Given the description of an element on the screen output the (x, y) to click on. 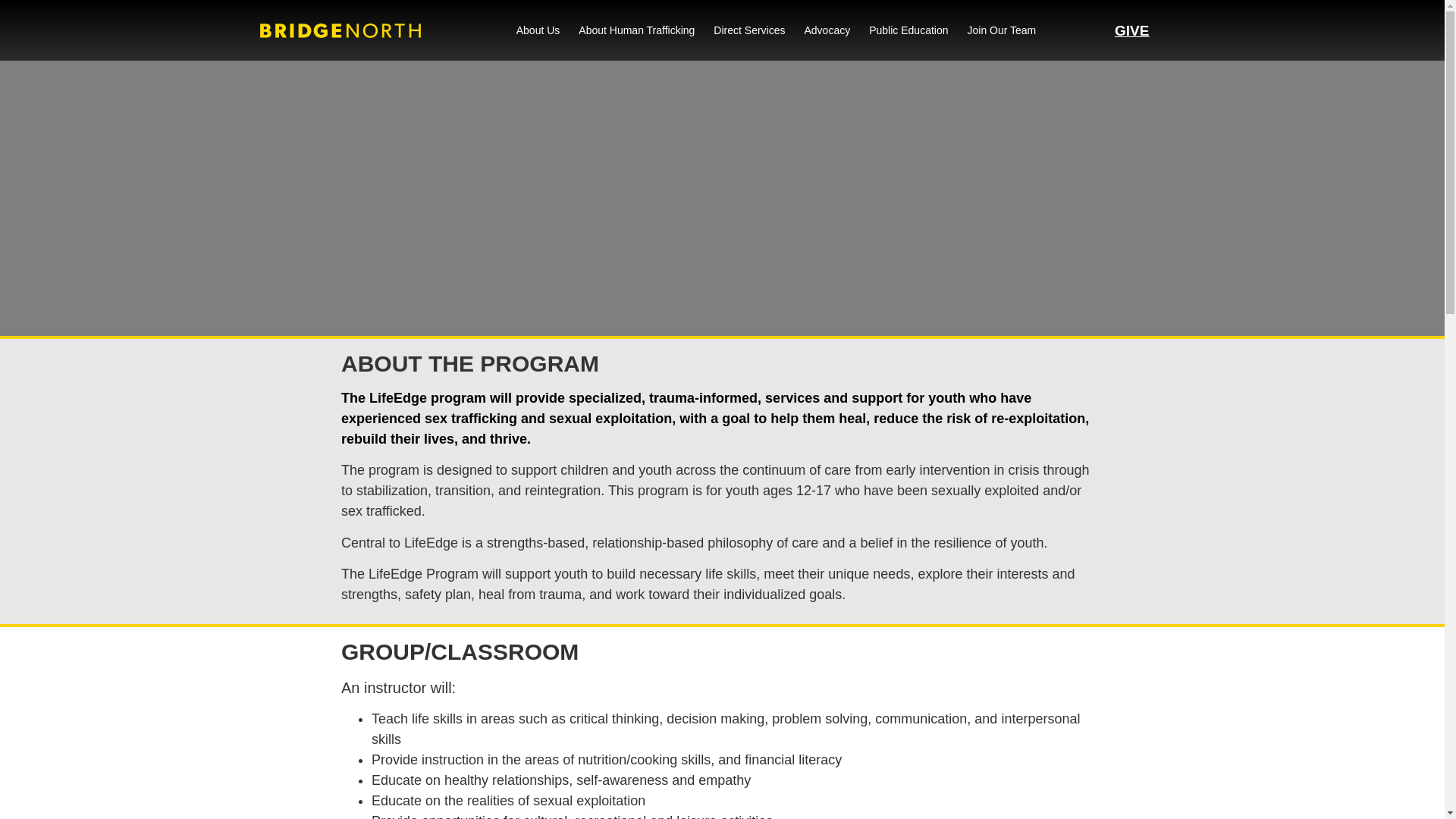
Advocacy (826, 30)
Join Our Team (1002, 30)
Direct Services (748, 30)
Public Education (908, 30)
About Us (538, 30)
About Human Trafficking (636, 30)
